Given the description of an element on the screen output the (x, y) to click on. 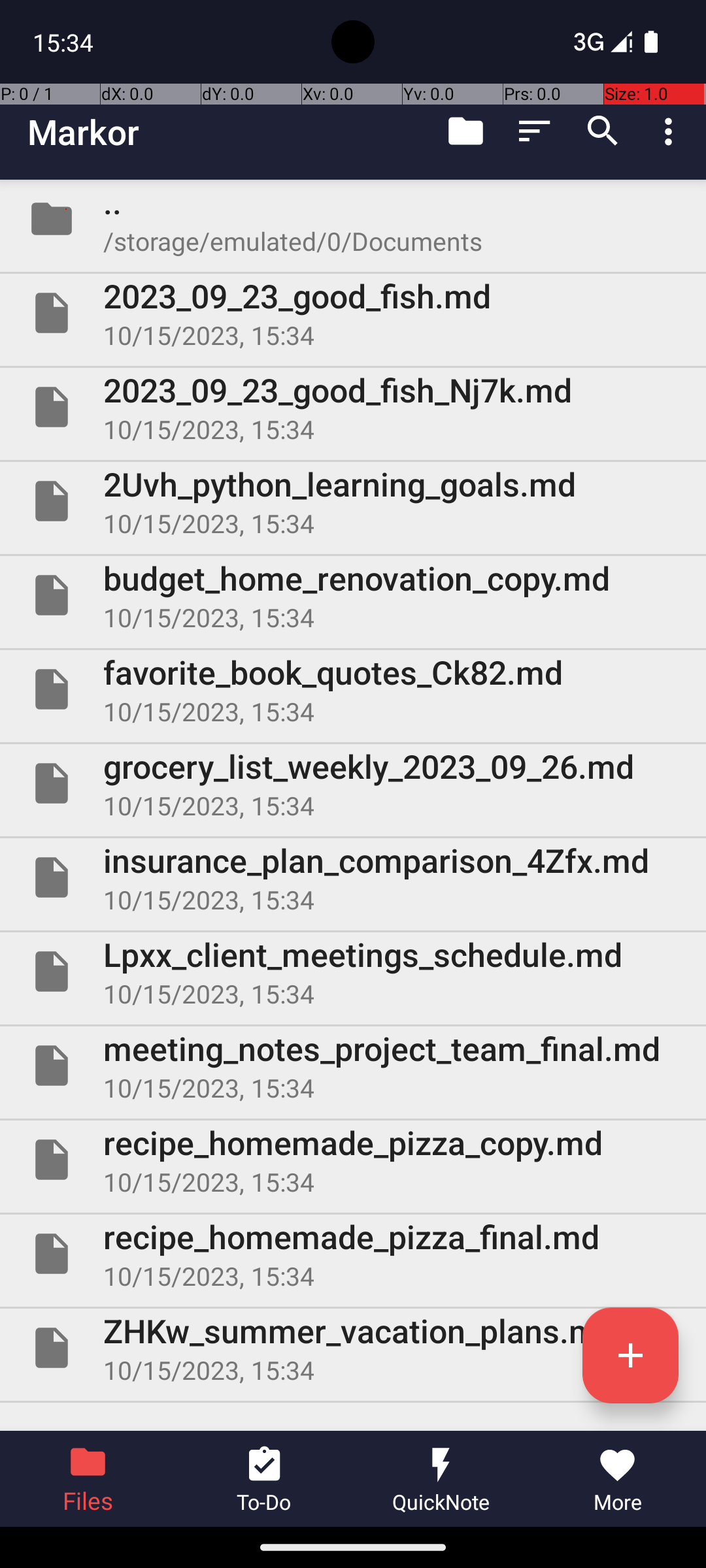
Create a new file or folder Element type: android.widget.ImageButton (630, 1355)
Go to Element type: android.widget.TextView (465, 131)
Sort by Element type: android.widget.TextView (534, 131)
To-Do Element type: android.widget.FrameLayout (264, 1478)
QuickNote Element type: android.widget.FrameLayout (441, 1478)
More Element type: android.widget.FrameLayout (617, 1478)
Folder ..  Element type: android.widget.LinearLayout (353, 218)
File 2023_09_23_good_fish.md  Element type: android.widget.LinearLayout (353, 312)
File 2023_09_23_good_fish_Nj7k.md  Element type: android.widget.LinearLayout (353, 406)
File 2Uvh_python_learning_goals.md  Element type: android.widget.LinearLayout (353, 500)
File budget_home_renovation_copy.md  Element type: android.widget.LinearLayout (353, 594)
File favorite_book_quotes_Ck82.md  Element type: android.widget.LinearLayout (353, 689)
File grocery_list_weekly_2023_09_26.md  Element type: android.widget.LinearLayout (353, 783)
File insurance_plan_comparison_4Zfx.md  Element type: android.widget.LinearLayout (353, 877)
File Lpxx_client_meetings_schedule.md  Element type: android.widget.LinearLayout (353, 971)
File meeting_notes_project_team_final.md  Element type: android.widget.LinearLayout (353, 1065)
File recipe_homemade_pizza_copy.md  Element type: android.widget.LinearLayout (353, 1159)
File recipe_homemade_pizza_final.md  Element type: android.widget.LinearLayout (353, 1253)
File ZHKw_summer_vacation_plans.md  Element type: android.widget.LinearLayout (353, 1347)
